Given the description of an element on the screen output the (x, y) to click on. 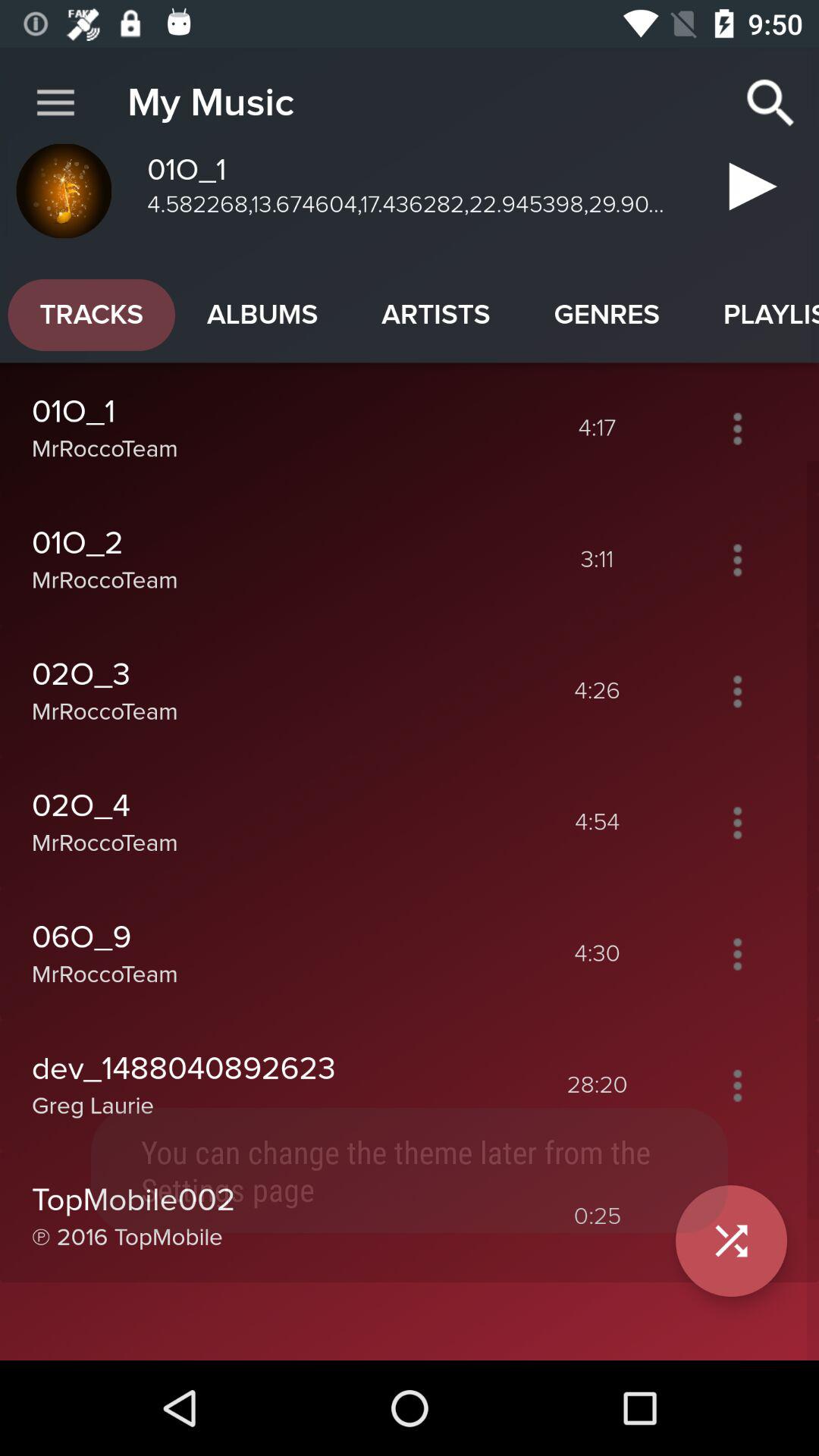
tap the icon to the right of the 0:25 item (731, 1240)
